Given the description of an element on the screen output the (x, y) to click on. 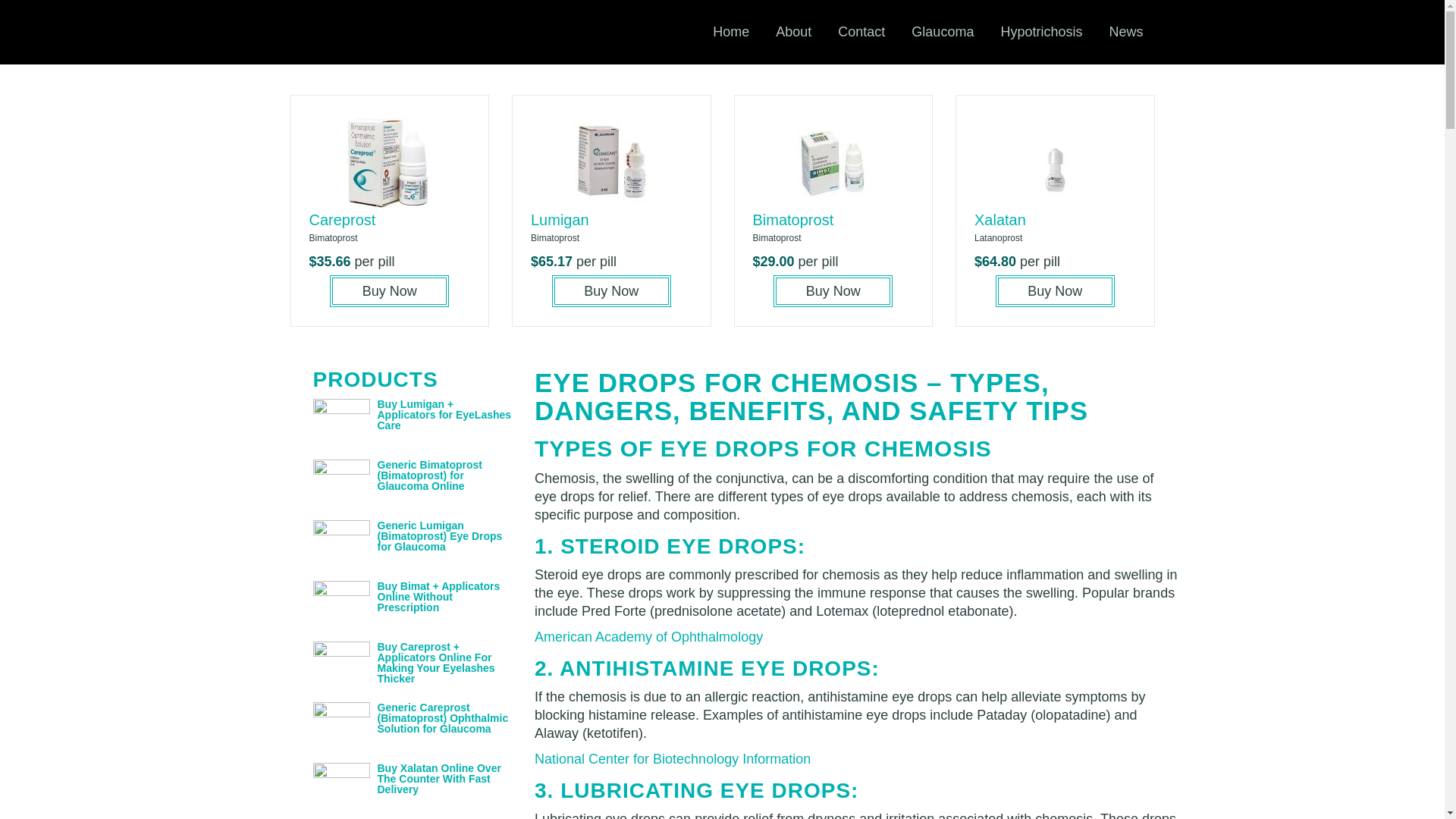
News (1125, 32)
Contact (861, 32)
Buy Now (389, 290)
Xalatan (1000, 219)
Glaucoma (942, 32)
American Academy of Ophthalmology (648, 636)
Buy Now (1055, 290)
Home (730, 32)
Buy Now (611, 290)
Buy Now (832, 290)
